Given the description of an element on the screen output the (x, y) to click on. 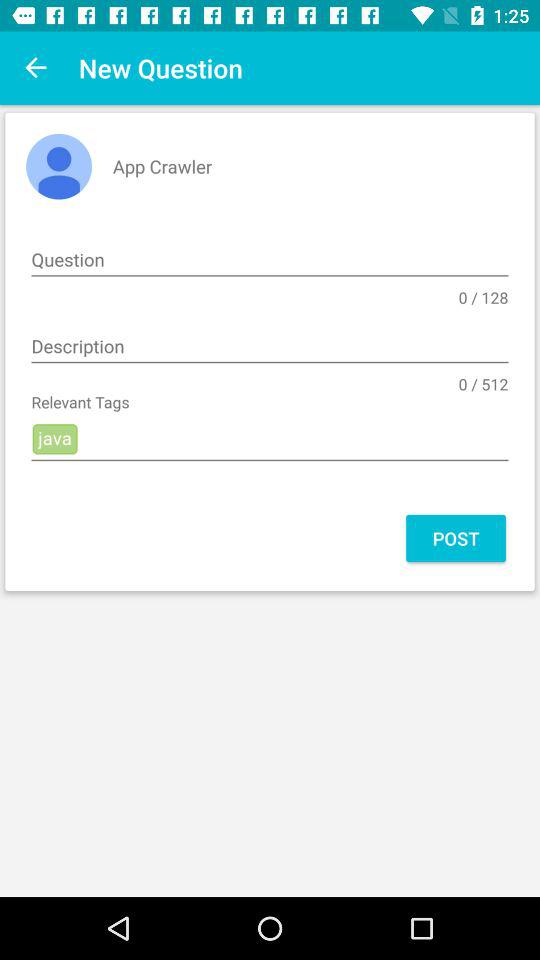
open icon above the 0 / 512 (269, 347)
